Given the description of an element on the screen output the (x, y) to click on. 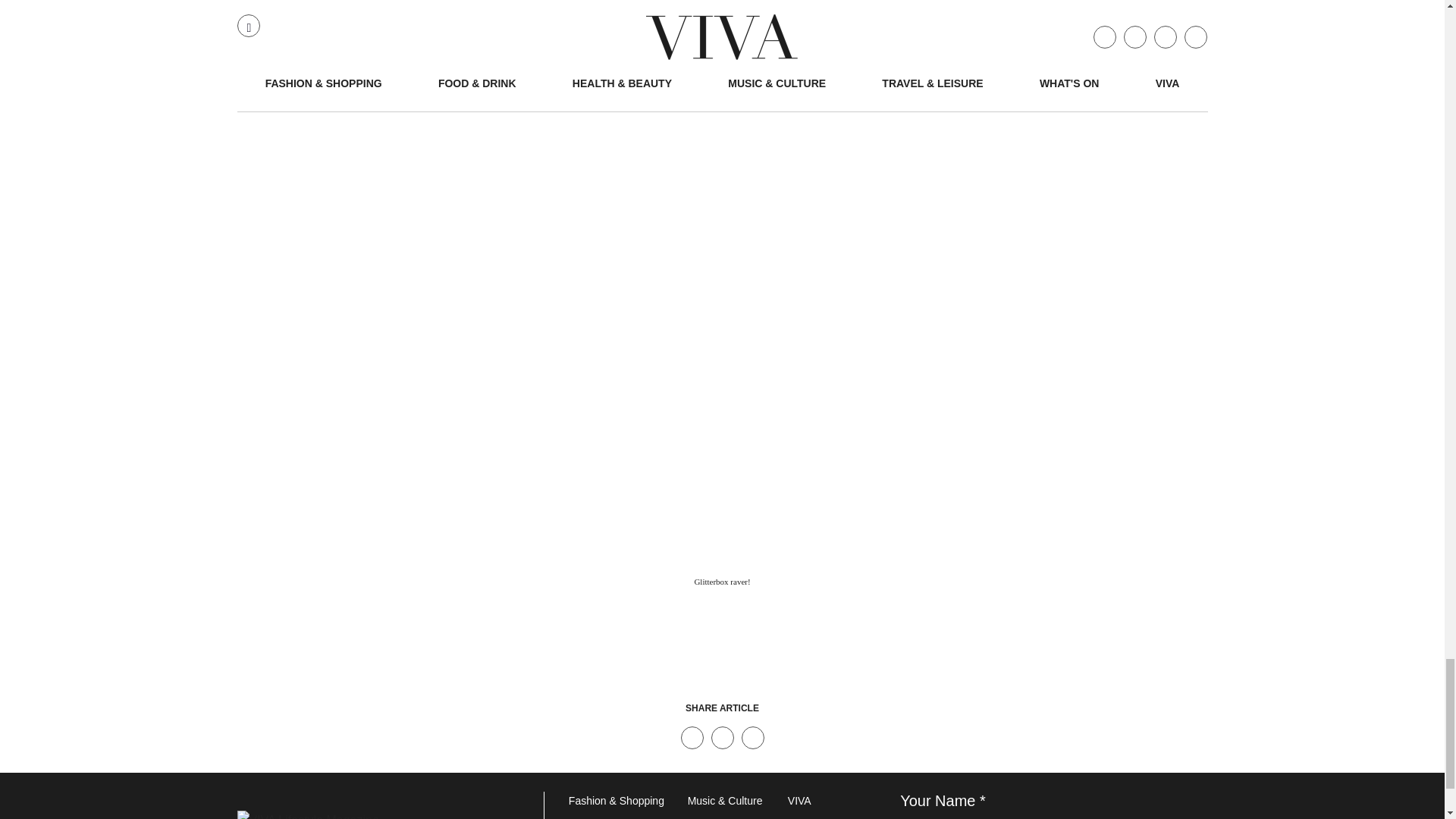
Privacy policy (831, 816)
VIVA (831, 801)
